Given the description of an element on the screen output the (x, y) to click on. 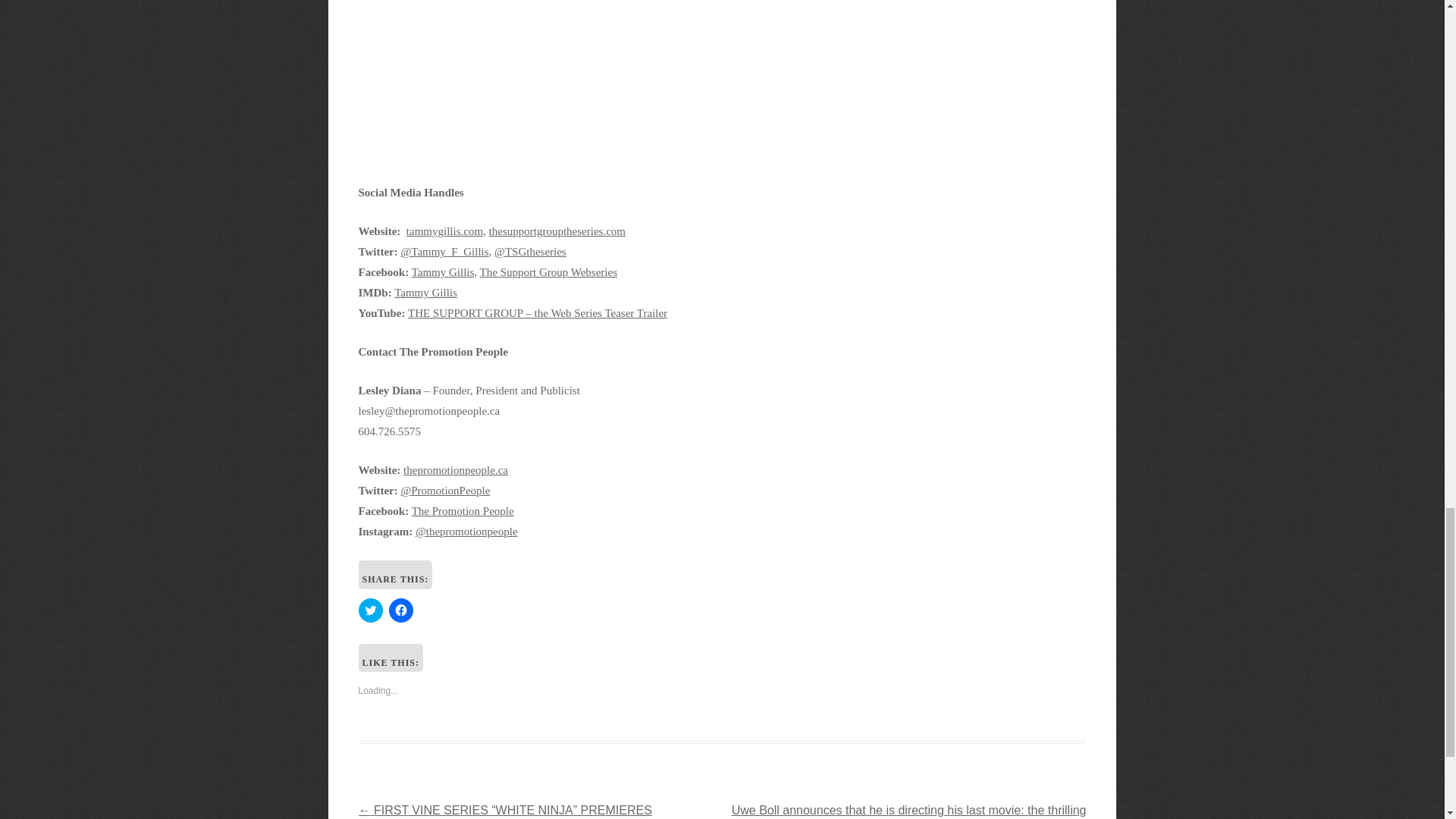
Click to share on Twitter (369, 610)
thepromotionpeople.ca (455, 469)
The Promotion People (462, 510)
tammygillis.com (444, 231)
thesupportgrouptheseries.com (557, 231)
Tammy Gillis (443, 272)
tammygillis.com (444, 231)
The Support Group Webseries (548, 272)
The Promotion People (462, 510)
Tammy Gillis (443, 272)
Click to share on Facebook (400, 610)
Tammy Gillis (425, 292)
thepromotionpeople.ca (455, 469)
